Given the description of an element on the screen output the (x, y) to click on. 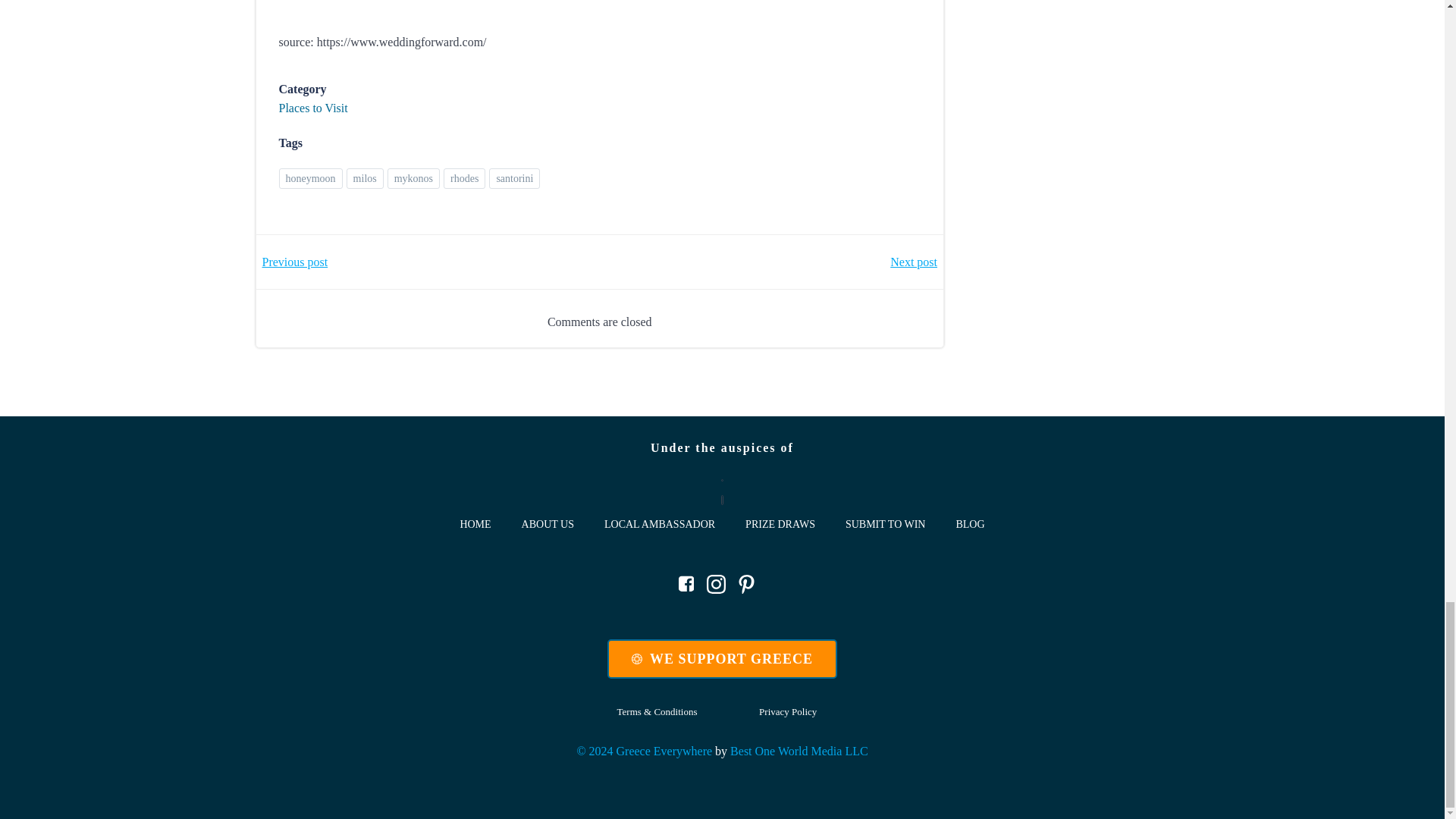
milos (365, 178)
mykonos Tag (413, 178)
honeymoon Tag (310, 178)
rhodes Tag (464, 178)
milos Tag (365, 178)
santorini Tag (514, 178)
santorini (514, 178)
honeymoon (310, 178)
rhodes (464, 178)
Places to Visit (313, 108)
